Given the description of an element on the screen output the (x, y) to click on. 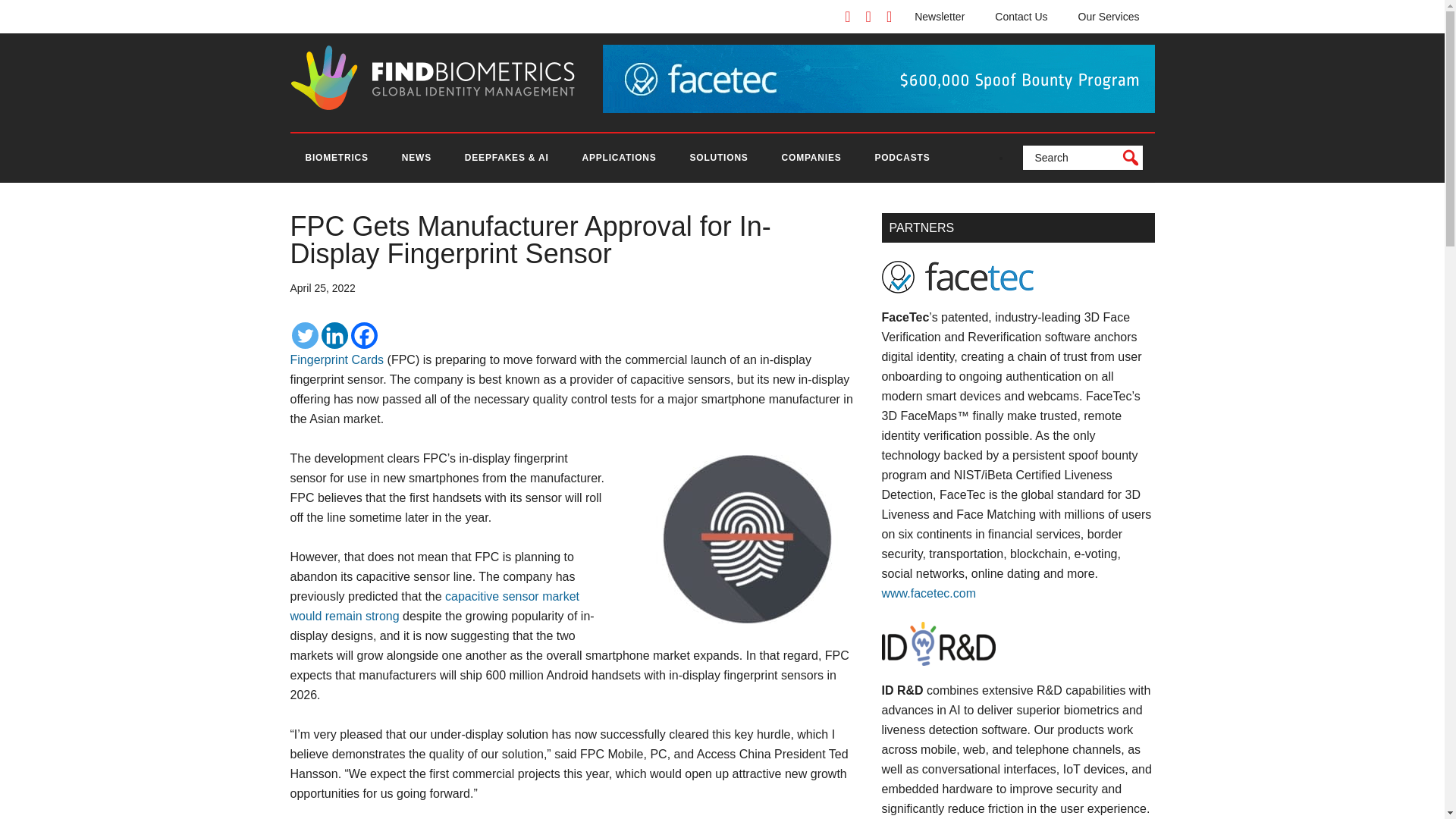
Facebook (363, 335)
Linkedin (334, 335)
Newsletter (939, 16)
BIOMETRICS (335, 157)
SOLUTIONS (718, 157)
NEWS (416, 157)
APPLICATIONS (619, 157)
Twitter (304, 335)
Contact Us (1020, 16)
Our Services (1108, 16)
